Given the description of an element on the screen output the (x, y) to click on. 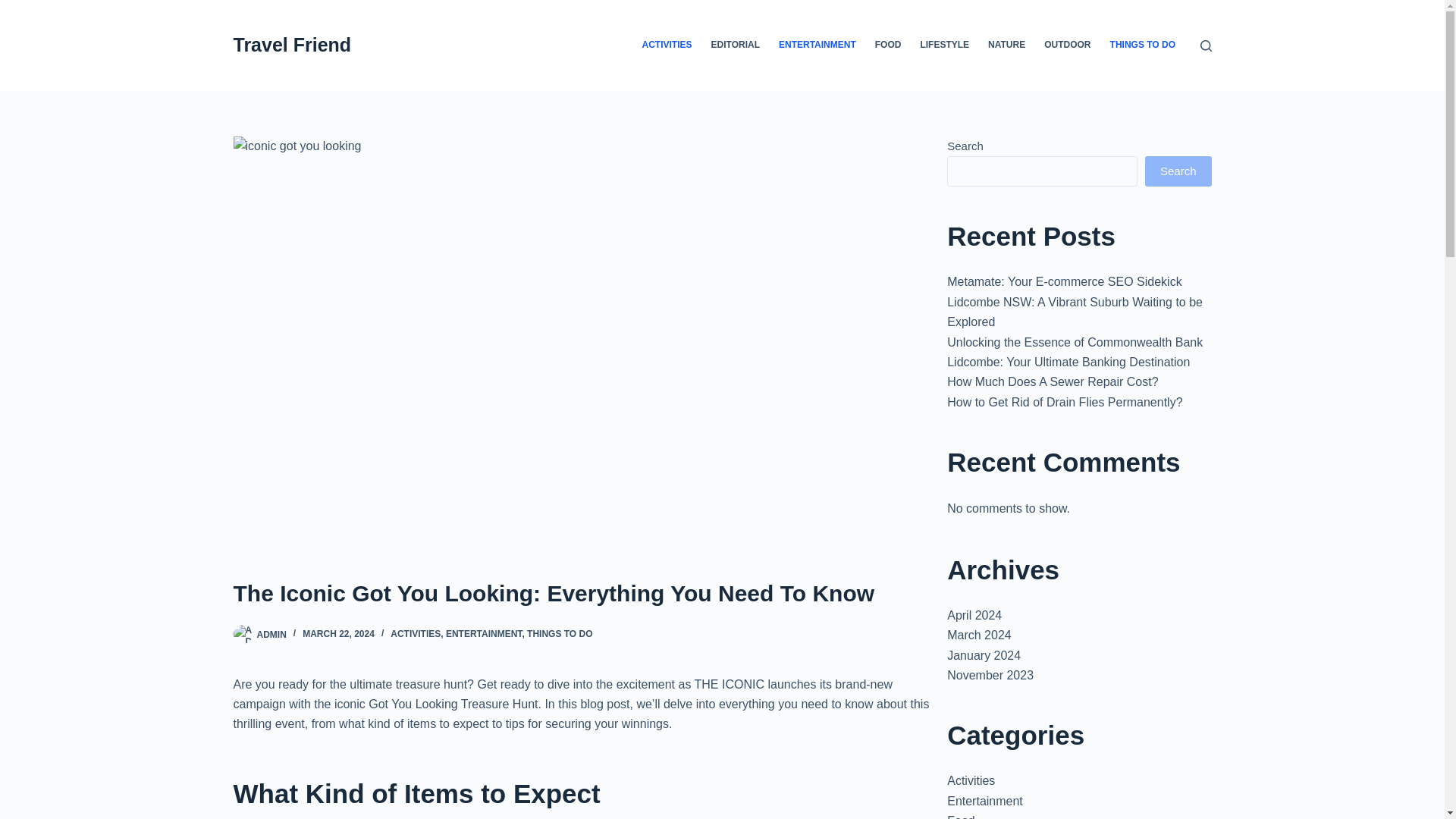
Metamate: Your E-commerce SEO Sidekick (1063, 281)
ACTIVITIES (415, 633)
How Much Does A Sewer Repair Cost? (1052, 381)
Skip to content (15, 7)
THINGS TO DO (559, 633)
Activities (970, 780)
Search (1177, 171)
ADMIN (270, 633)
Travel Friend (292, 44)
THINGS TO DO (1142, 45)
March 2024 (979, 634)
January 2024 (983, 655)
November 2023 (990, 675)
ENTERTAINMENT (483, 633)
